Given the description of an element on the screen output the (x, y) to click on. 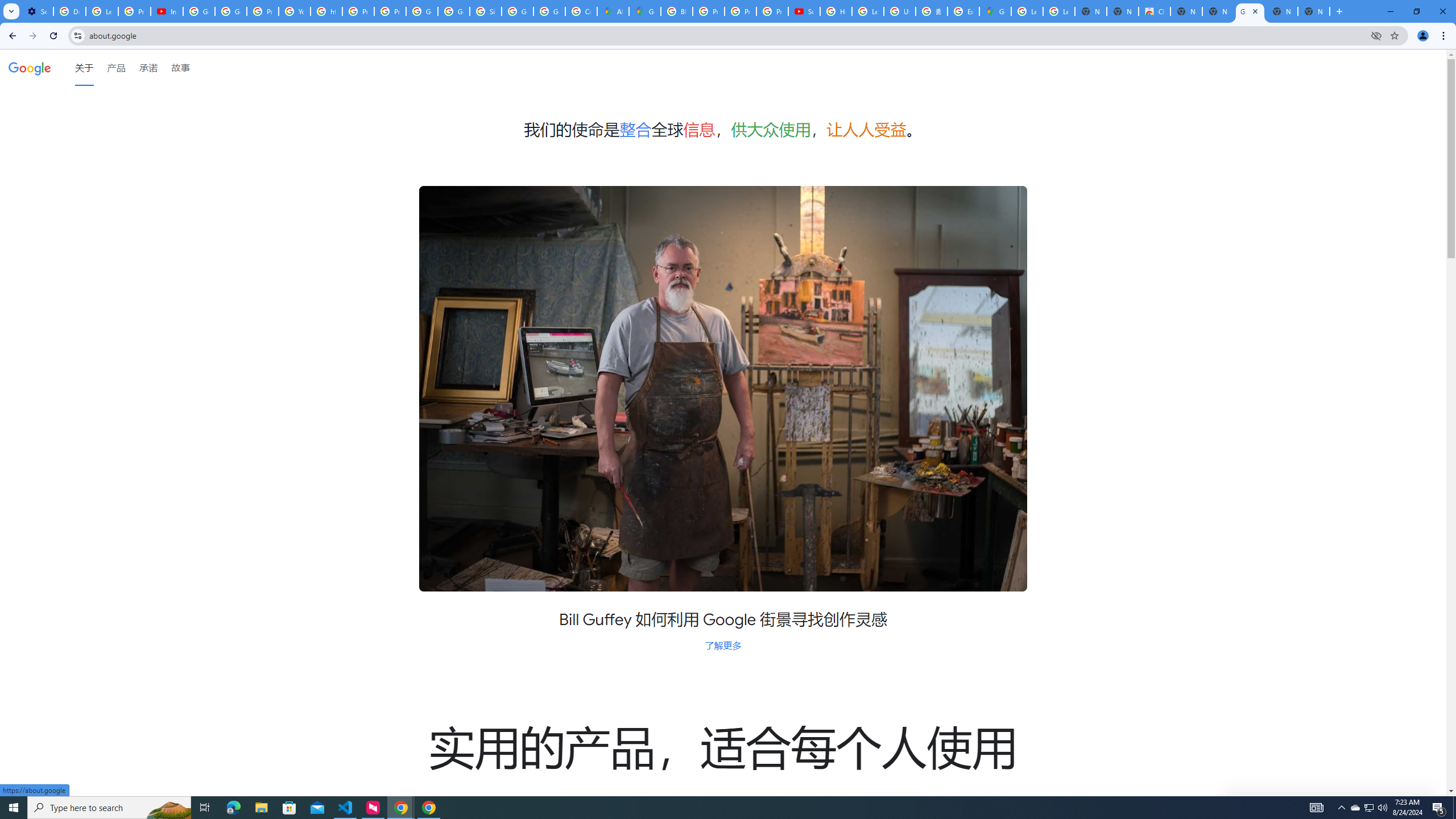
Google Account Help (198, 11)
Learn how to find your photos - Google Photos Help (101, 11)
https://scholar.google.com/ (326, 11)
Privacy Help Center - Policies Help (358, 11)
Google Maps (644, 11)
Google Maps (995, 11)
Explore new street-level details - Google Maps Help (963, 11)
